Given the description of an element on the screen output the (x, y) to click on. 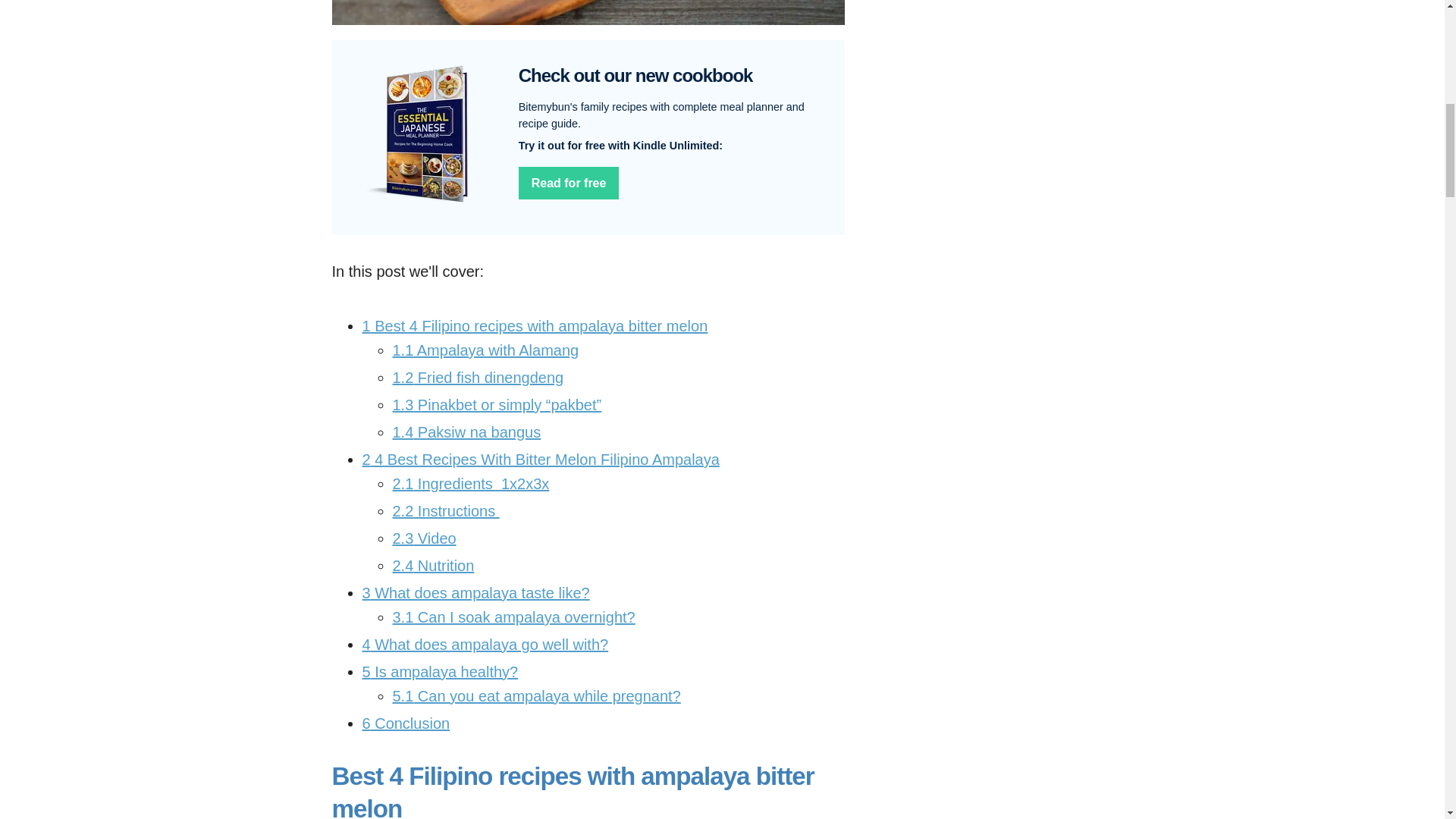
4 What does ampalaya go well with? (485, 644)
2.1 Ingredients  1x2x3x (471, 483)
1.2 Fried fish dinengdeng (478, 377)
2.4 Nutrition (433, 565)
3.1 Can I soak ampalaya overnight? (513, 617)
6 Conclusion (405, 723)
2.2 Instructions  (446, 510)
1.4 Paksiw na bangus (467, 432)
1.1 Ampalaya with Alamang (486, 350)
5 Is ampalaya healthy? (440, 671)
